Given the description of an element on the screen output the (x, y) to click on. 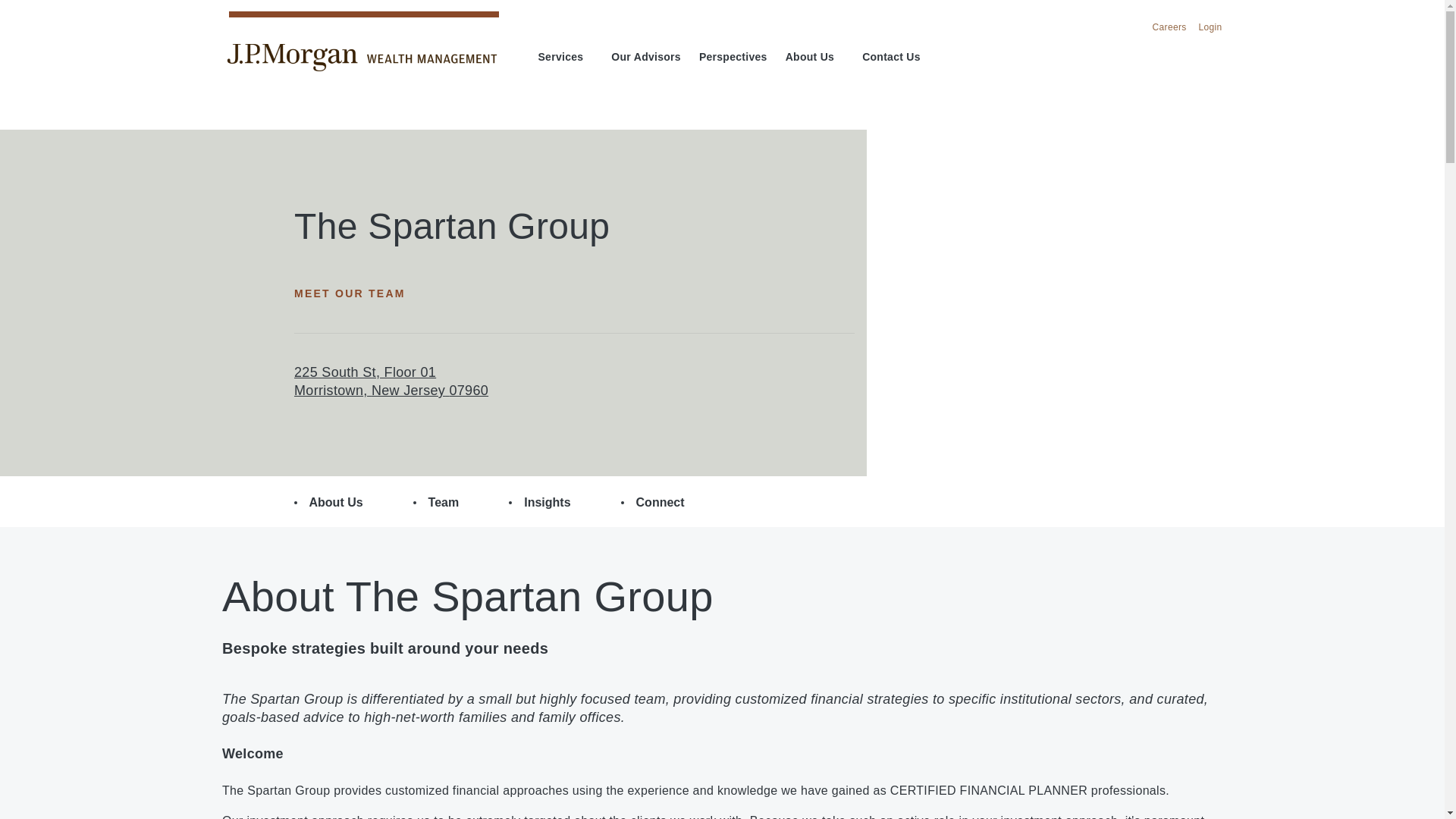
Link to main website (361, 56)
Services (566, 57)
Careers (1169, 28)
Login (1210, 28)
Contact Us (890, 57)
MEET OUR TEAM (356, 293)
About Us (815, 57)
Team (436, 502)
Our Advisors (646, 57)
